Given the description of an element on the screen output the (x, y) to click on. 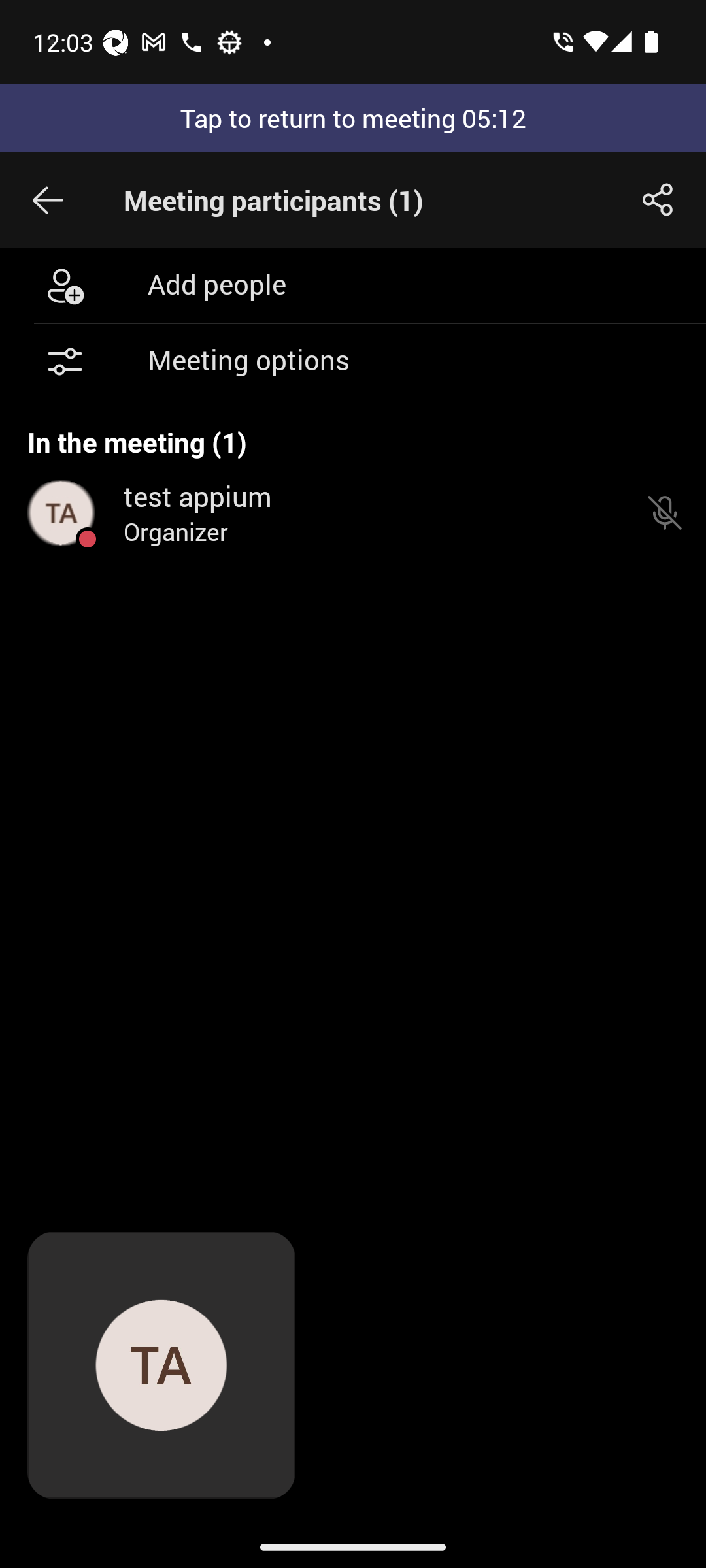
Tap to return to meeting 05:12 (353, 117)
Back (48, 199)
Share meeting invite (657, 199)
Add people (353, 285)
Meeting options (353, 361)
